Given the description of an element on the screen output the (x, y) to click on. 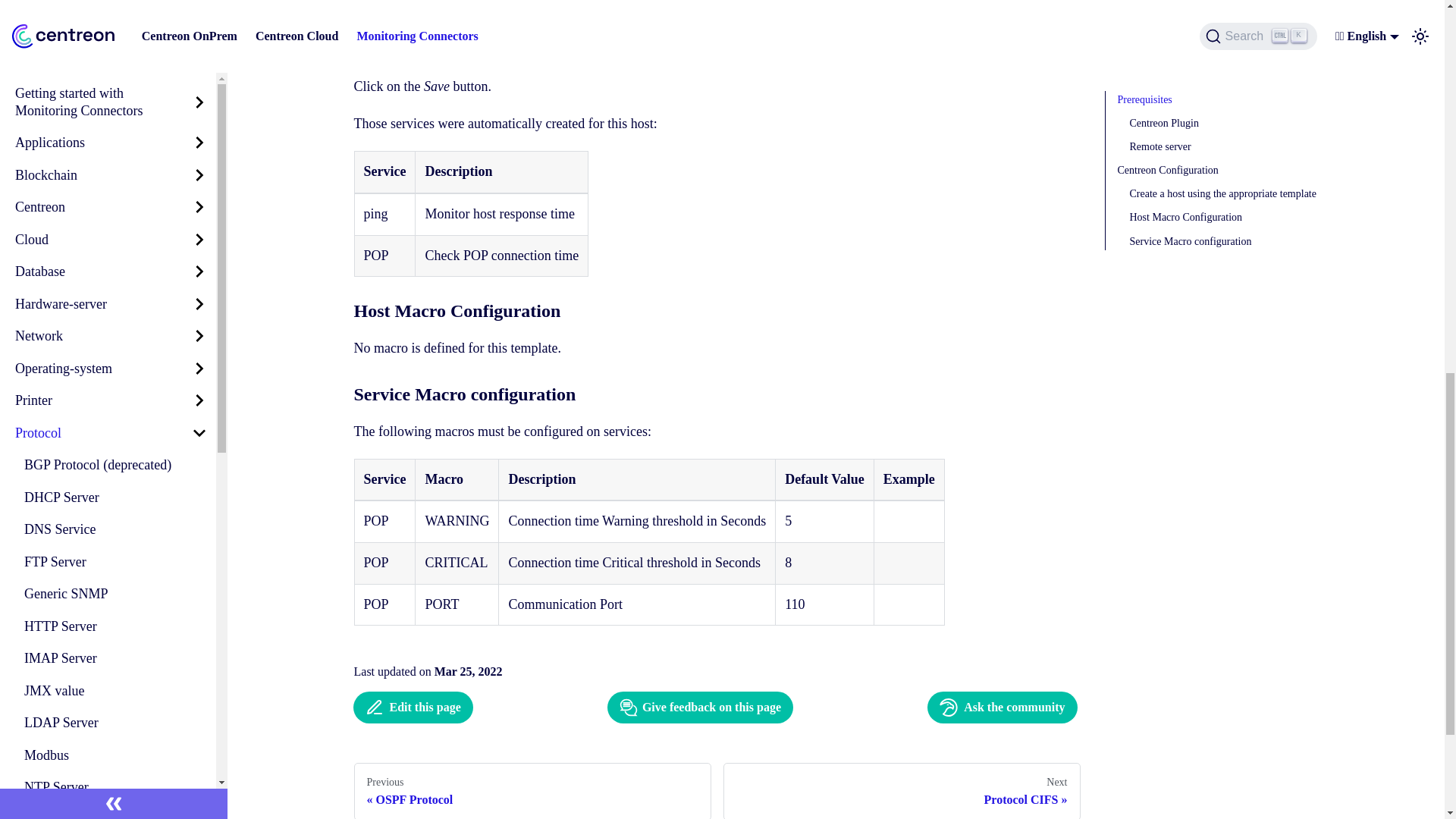
Protocol DHCP (114, 97)
Protocol SFTP (114, 129)
Protocol CIFS (114, 64)
POP Server (114, 32)
OSPF Protocol (114, 7)
